Given the description of an element on the screen output the (x, y) to click on. 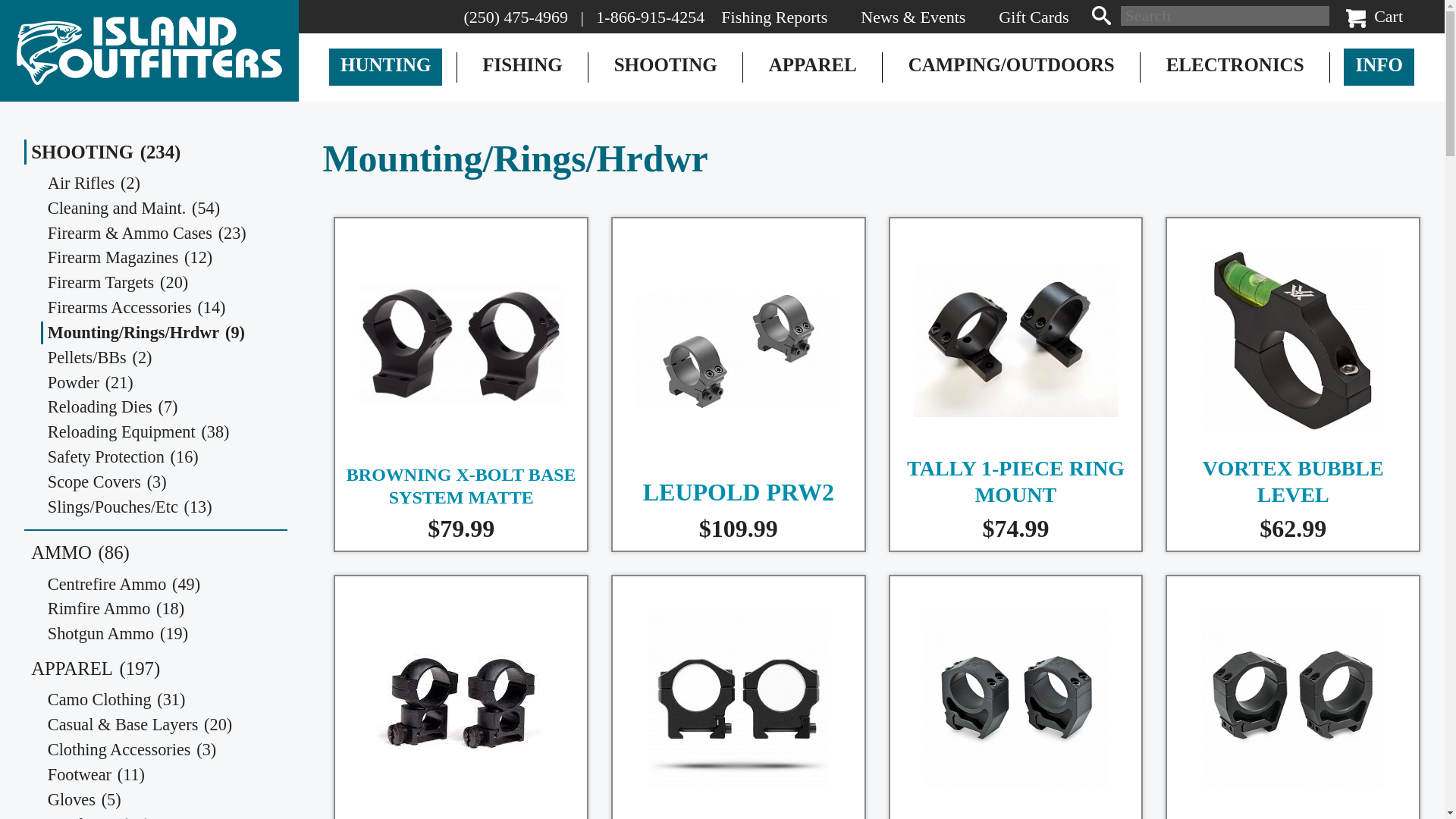
Submit Search (1101, 15)
Your cart is empty. (1374, 16)
Search Query (1225, 15)
Your cart is empty. (1355, 18)
